Given the description of an element on the screen output the (x, y) to click on. 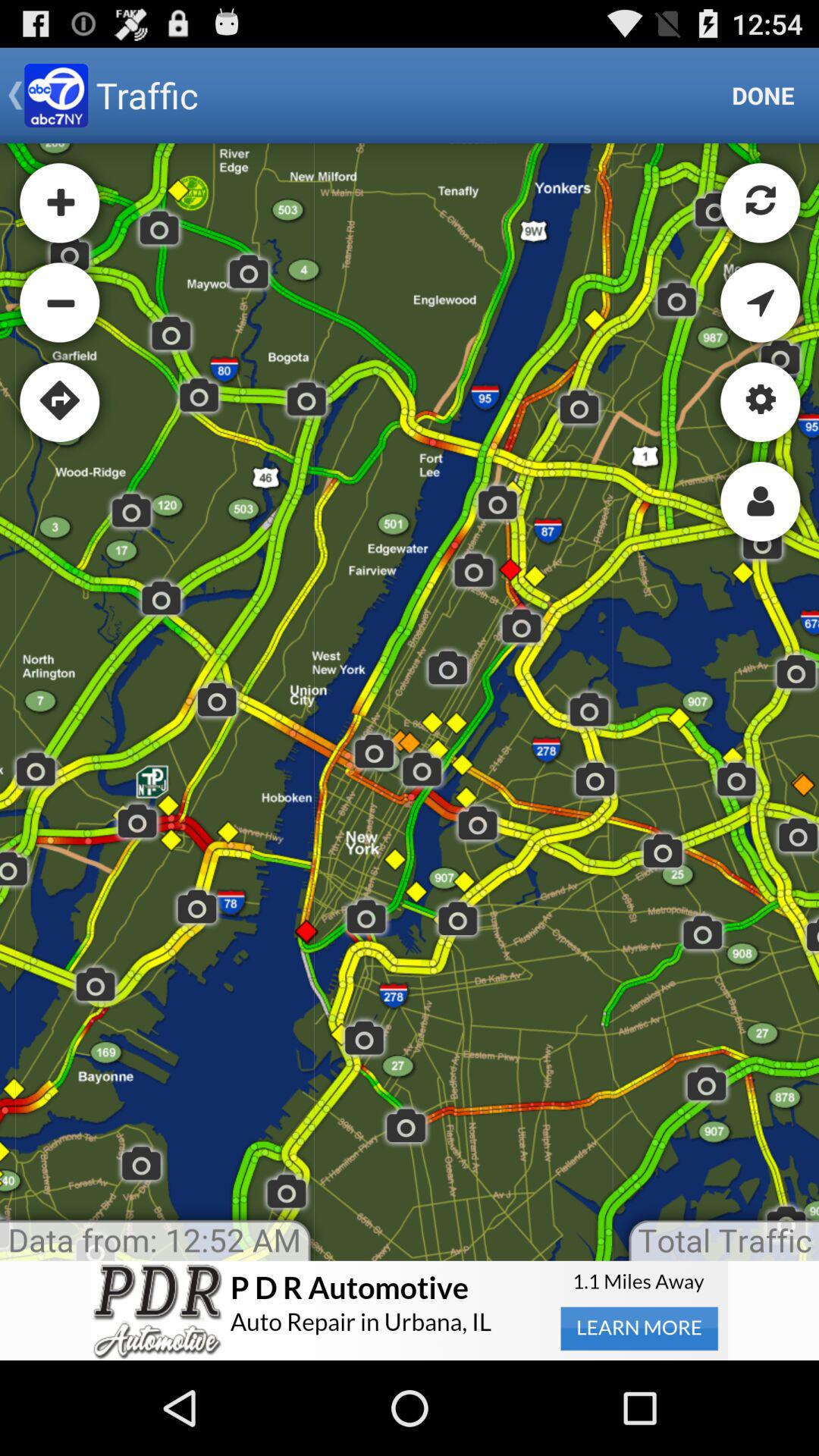
map page (409, 701)
